Given the description of an element on the screen output the (x, y) to click on. 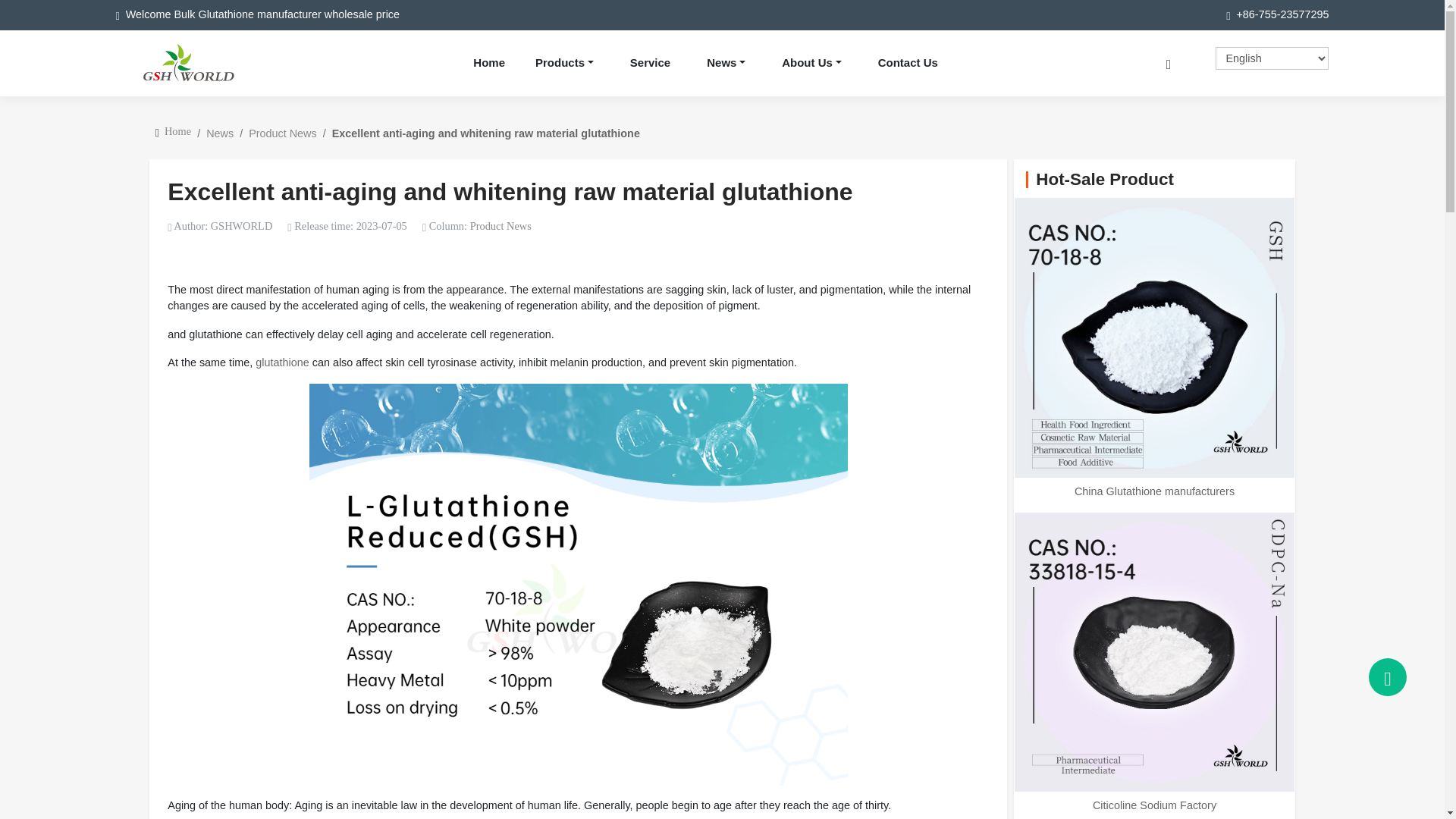
Service (649, 63)
News (219, 133)
Home (177, 131)
Contact Us (908, 63)
News (725, 63)
Product News (500, 225)
Citicoline Sodium Factory (1154, 805)
About Us (811, 63)
Home (488, 63)
